Given the description of an element on the screen output the (x, y) to click on. 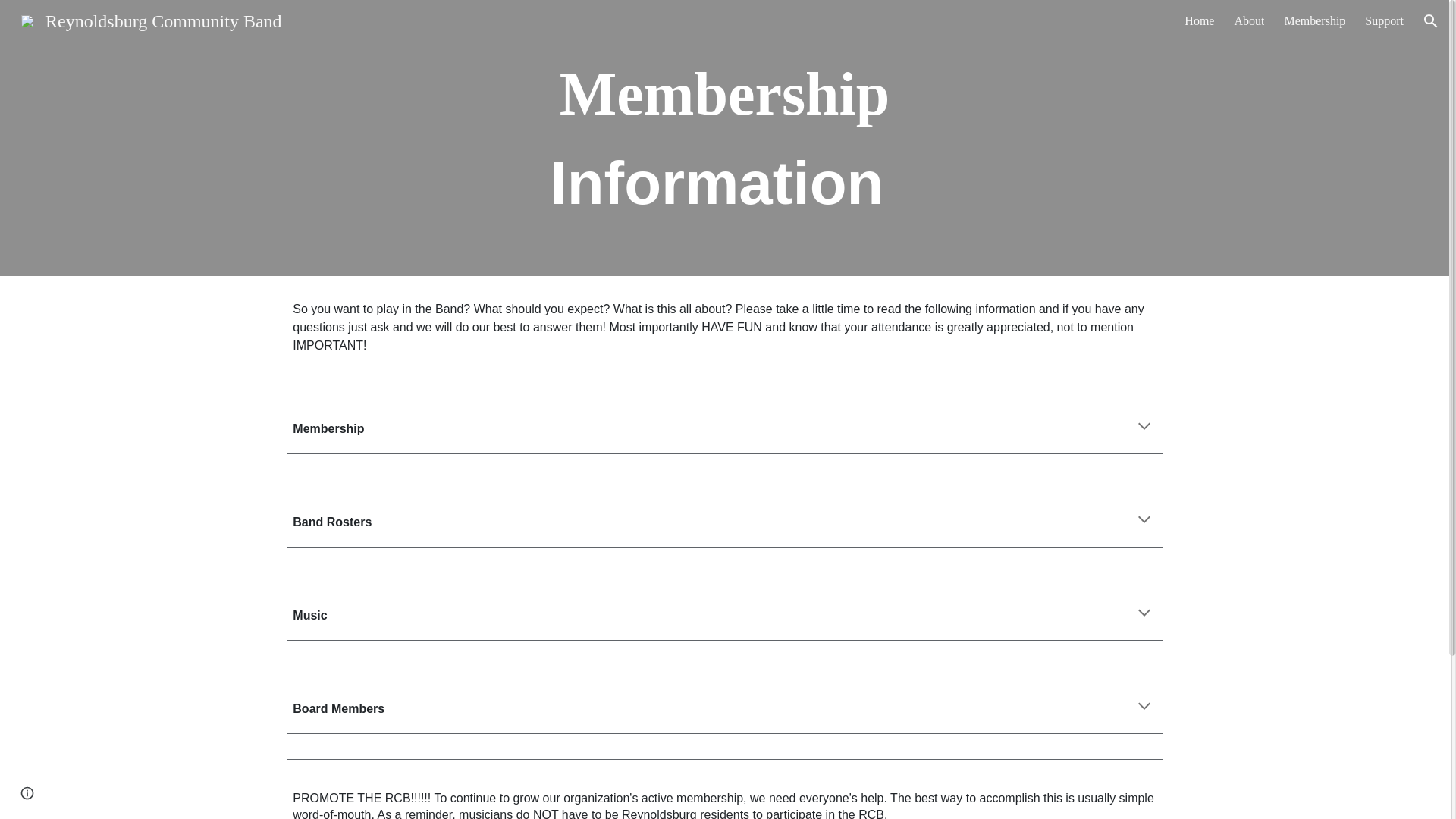
Membership (1314, 20)
Support (1384, 20)
Home (1199, 20)
About (1248, 20)
Reynoldsburg Community Band (151, 19)
